Given the description of an element on the screen output the (x, y) to click on. 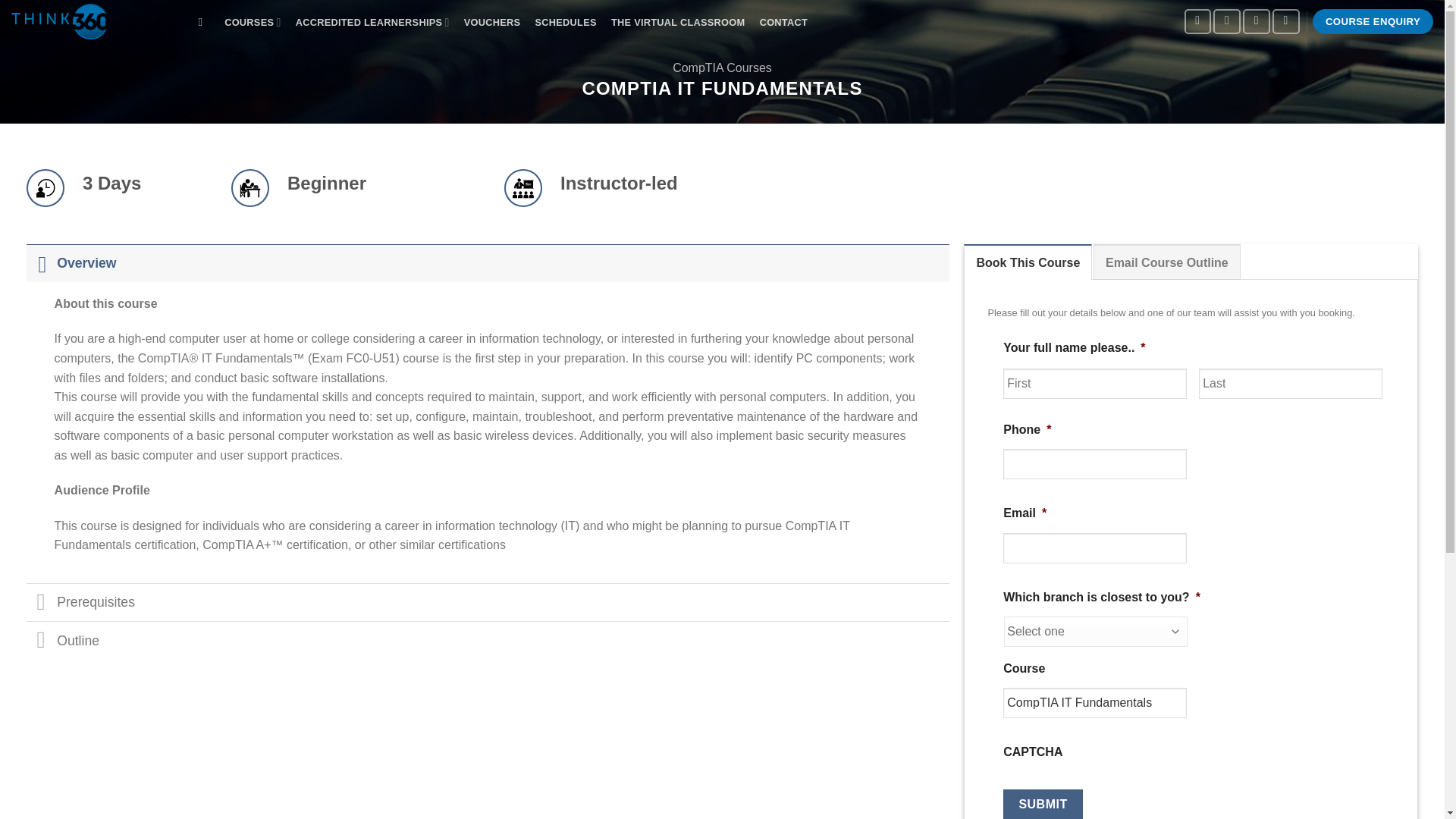
ACCREDITED LEARNERSHIPS (372, 22)
CompTIA IT Fundamentals (1094, 702)
Send us an email (1256, 21)
COURSES (252, 22)
Submit (1043, 804)
Follow on Instagram (1226, 21)
Follow on LinkedIn (1286, 21)
Think360 - IT Training and Certification (89, 21)
Follow on Facebook (1198, 21)
